Given the description of an element on the screen output the (x, y) to click on. 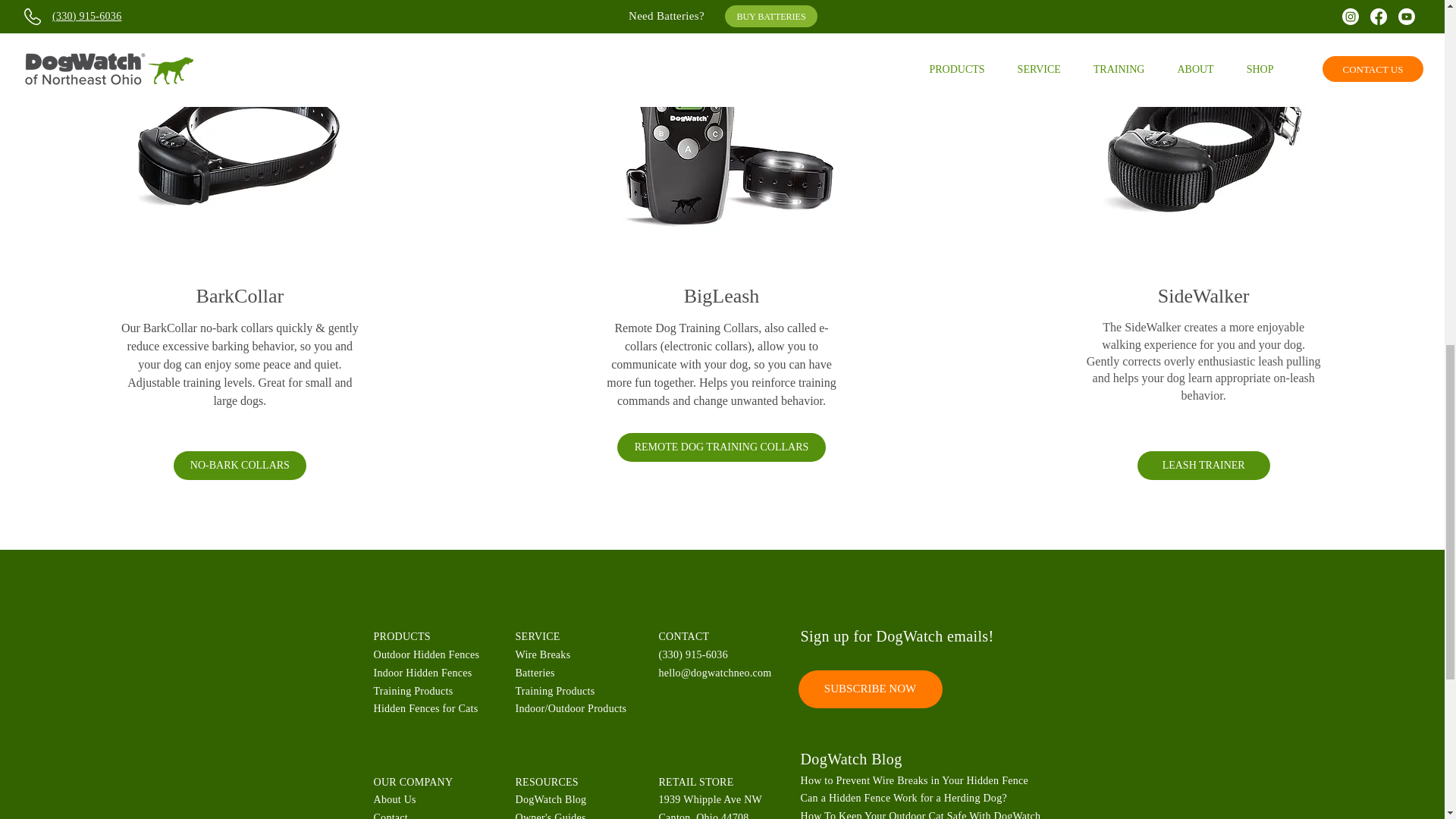
Wire Breaks (542, 654)
Indoor Hidden Fences (421, 672)
REMOTE DOG TRAINING COLLARS (721, 447)
NO-BARK COLLARS (239, 465)
LEASH TRAINER (1203, 465)
SERVICE (537, 636)
SUBSCRIBE NOW (869, 689)
Training Products (412, 690)
Batteries (534, 672)
Outdoor Hidden Fences (425, 654)
